Given the description of an element on the screen output the (x, y) to click on. 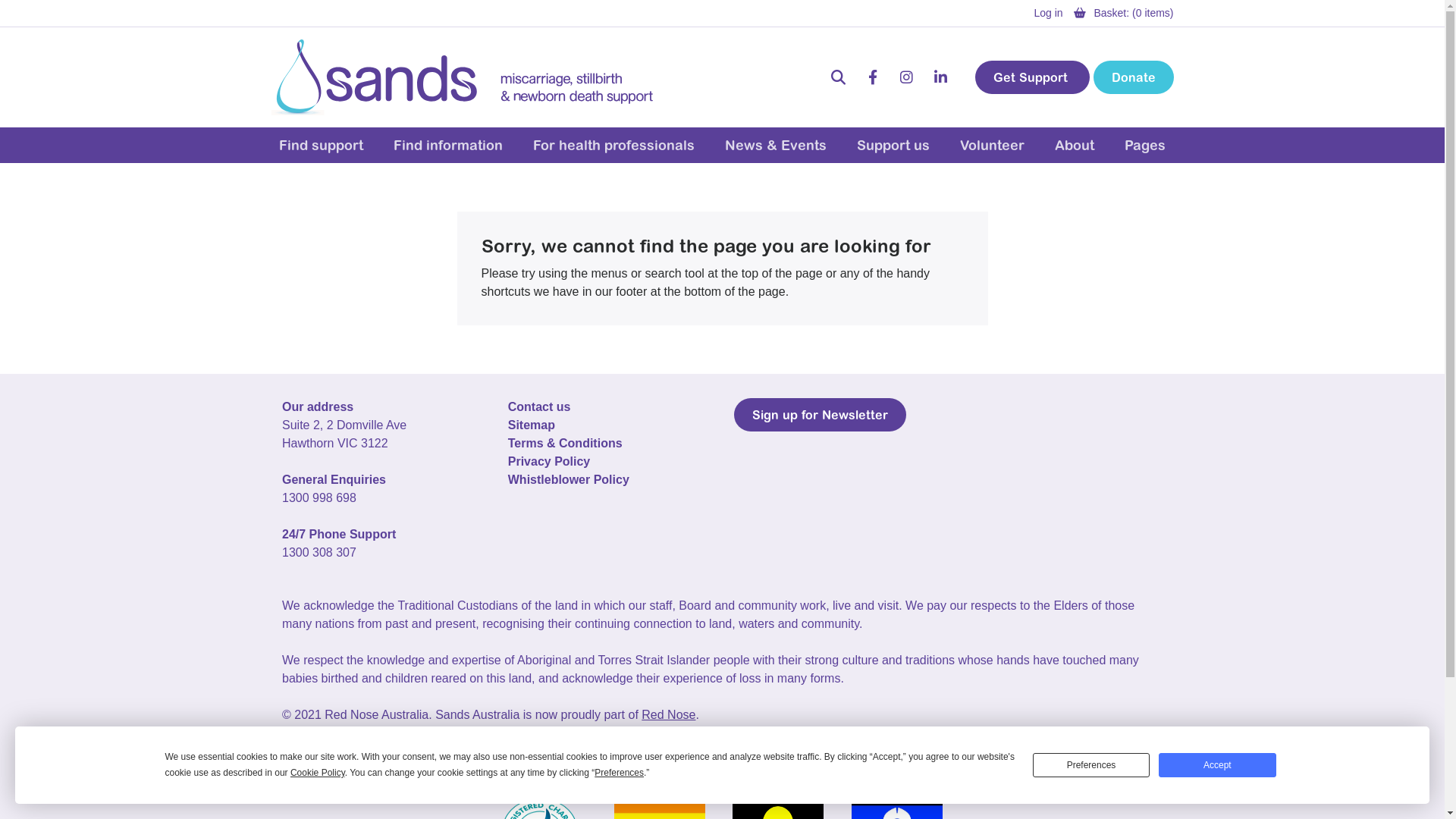
Donate Element type: text (1133, 77)
For health professionals Element type: text (613, 145)
Volunteer Element type: text (991, 145)
Support us Element type: text (892, 145)
Red Nose Element type: text (668, 714)
Linkedin Element type: text (940, 77)
Facebook Element type: text (871, 77)
Accept Element type: text (1216, 765)
SANDS - MISCARRIAGE STILLBIRTH NEWBORN DEATH SUPPORT Element type: text (466, 77)
Terms & Conditions Element type: text (565, 442)
Log in Element type: text (1047, 12)
Whistleblower Policy Element type: text (568, 479)
Search Element type: text (838, 77)
Instagram Element type: text (906, 77)
Find information Element type: text (447, 145)
Basket: (0 items) Element type: text (1133, 12)
Get Support  Element type: text (1032, 77)
Find support Element type: text (320, 145)
Pages Element type: text (1144, 145)
Sign up for Newsletter Element type: text (820, 414)
About Element type: text (1074, 145)
Privacy Policy Element type: text (549, 461)
Preferences Element type: text (1090, 765)
Contact us Element type: text (539, 406)
Sitemap Element type: text (531, 424)
News & Events Element type: text (775, 145)
